Given the description of an element on the screen output the (x, y) to click on. 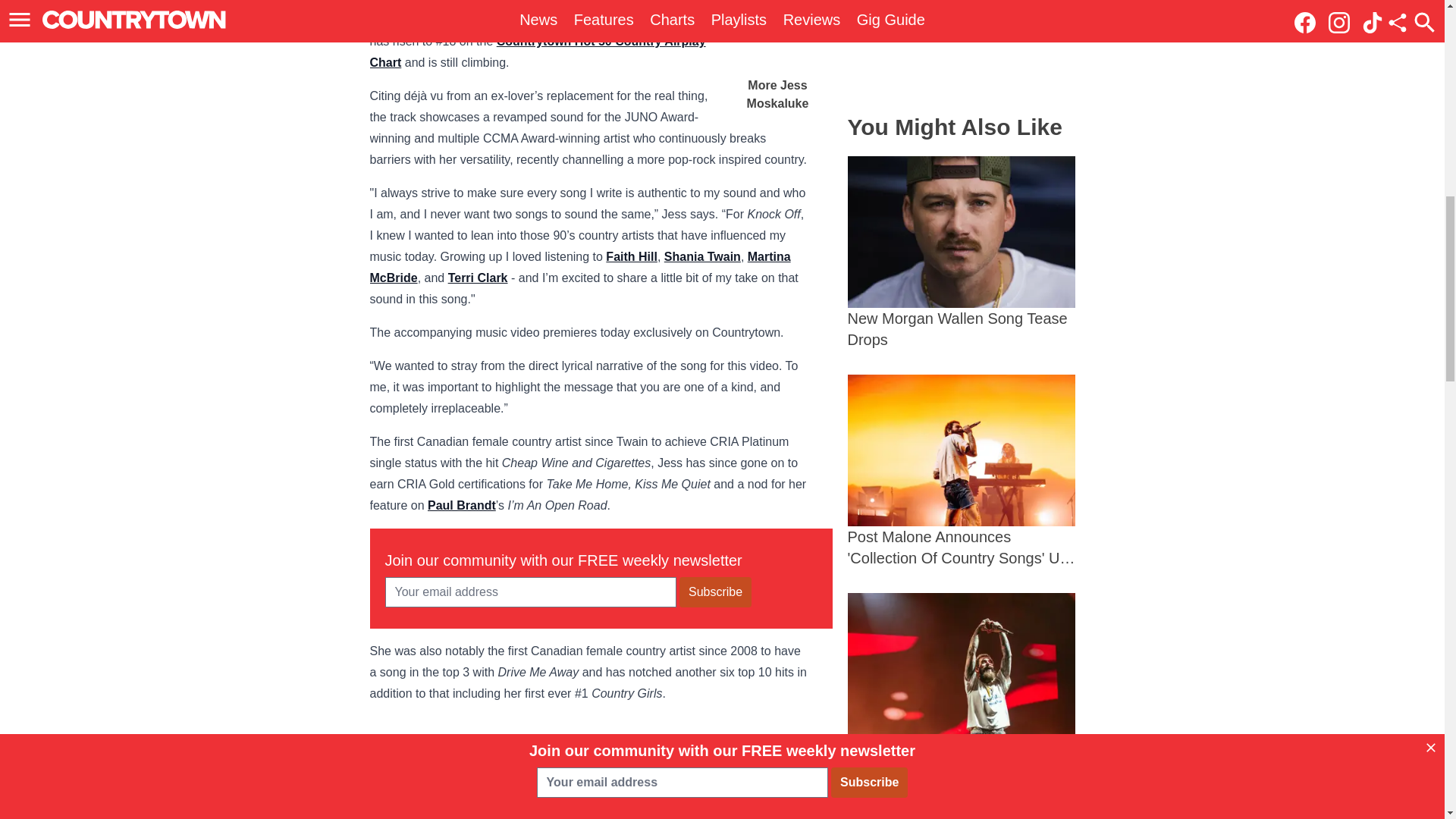
Countrytown Hot 50 Country Airplay Chart (537, 51)
Shania Twain (702, 256)
Paul Brandt (462, 504)
Post Malone Unveils Official Tracklist For 'F-1 Trillion' (961, 689)
Terri Clark (478, 277)
Subscribe (715, 592)
Faith Hill (631, 256)
Jess Moskaluke (532, 2)
More Jess Moskaluke (777, 56)
Martina McBride (579, 267)
